Given the description of an element on the screen output the (x, y) to click on. 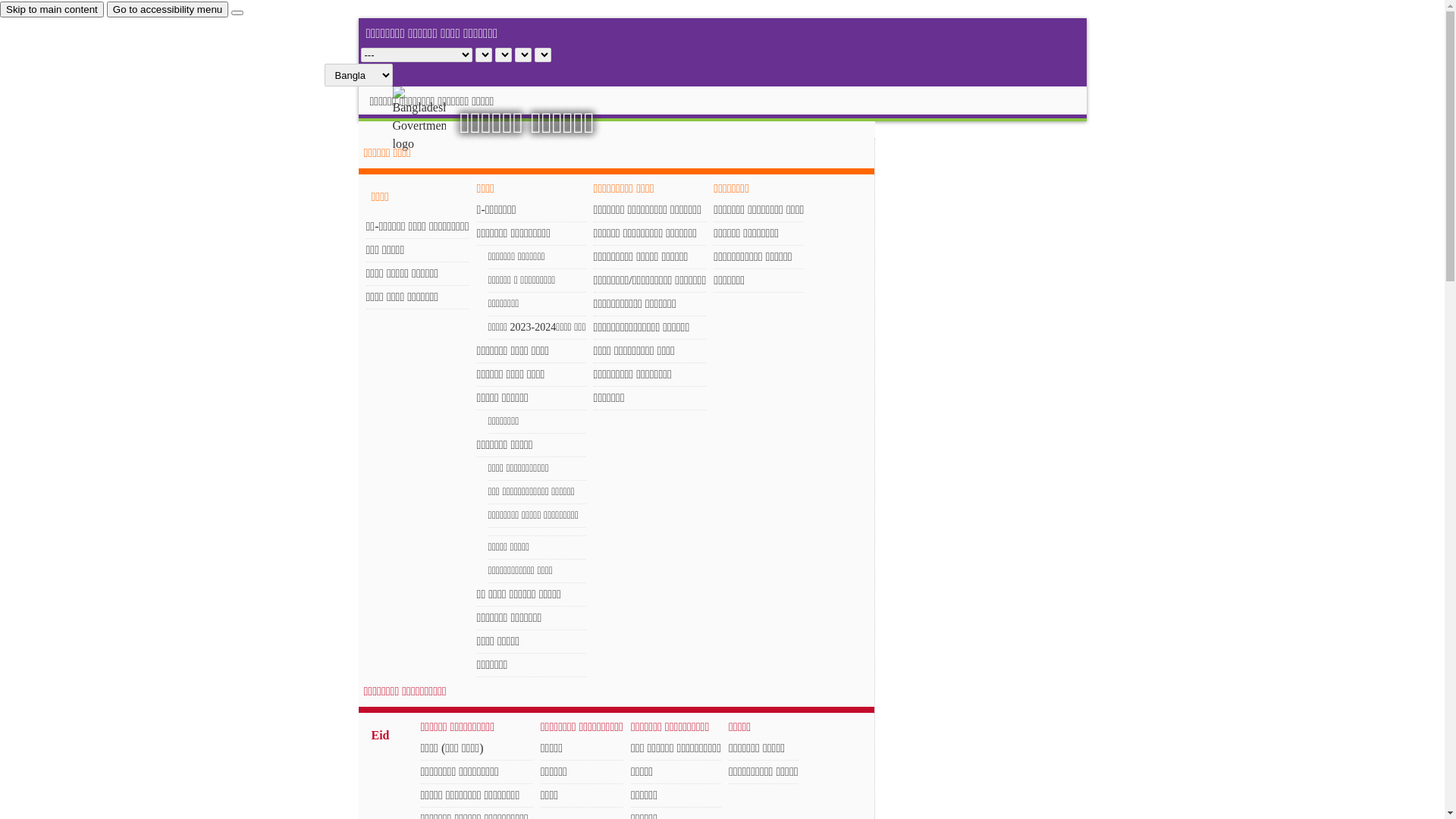

                
             Element type: hover (431, 119)
Skip to main content Element type: text (51, 9)
close Element type: hover (237, 12)
Go to accessibility menu Element type: text (167, 9)
Eid Element type: text (379, 736)
